Given the description of an element on the screen output the (x, y) to click on. 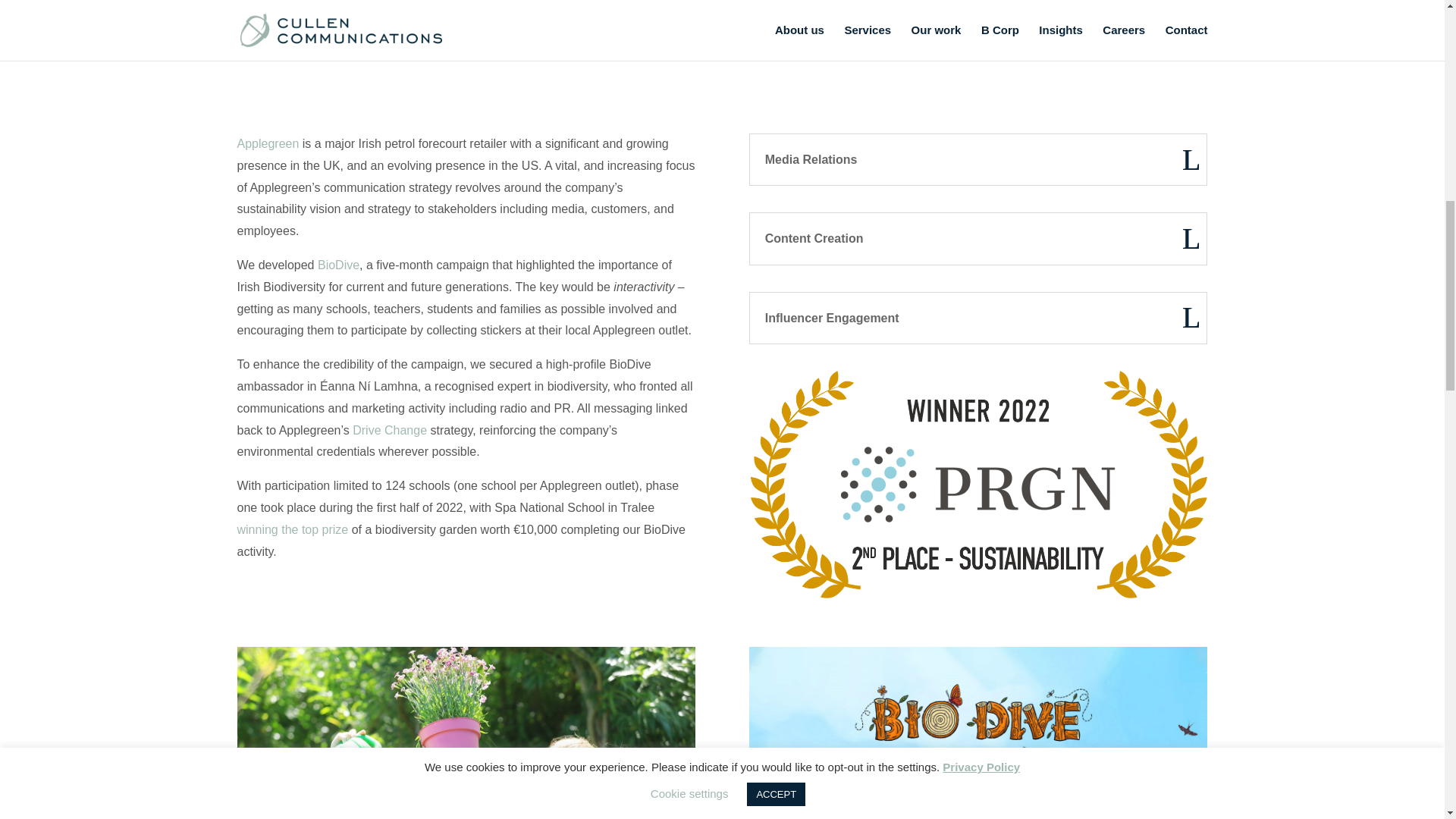
" (721, 25)
Drive Change (389, 430)
" (721, 25)
Applegreen (266, 143)
winning the top prize (291, 529)
" (721, 24)
BioDive (338, 264)
